Given the description of an element on the screen output the (x, y) to click on. 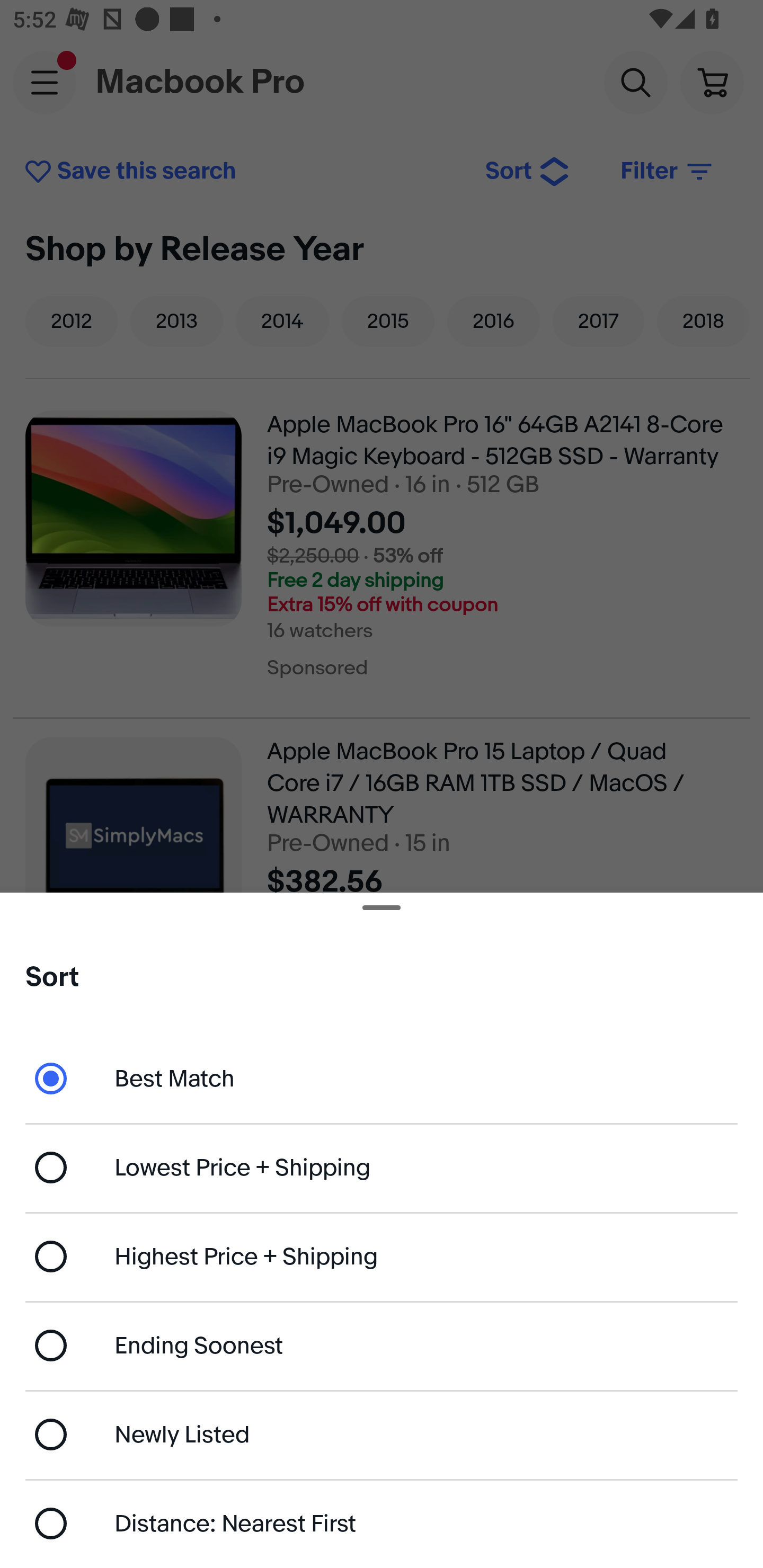
Best Match - currently selected Best Match (381, 1077)
Lowest Price + Shipping (381, 1167)
Highest Price + Shipping (381, 1256)
Ending Soonest (381, 1345)
Newly Listed (381, 1433)
Distance: Nearest First (381, 1523)
